Given the description of an element on the screen output the (x, y) to click on. 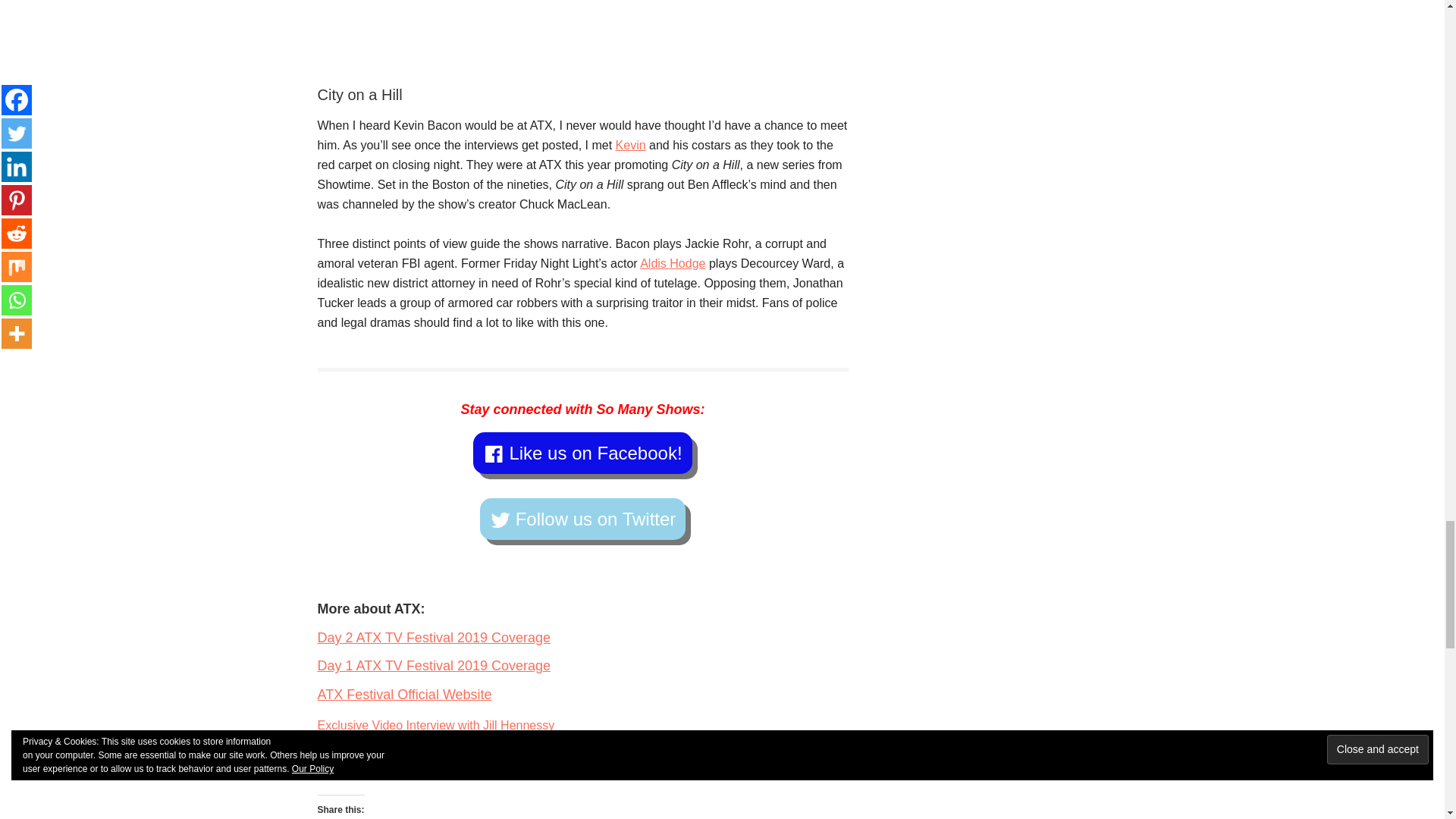
Aldis Hodge (672, 263)
Day 1 ATX TV Festival 2019 Coverage (433, 665)
Day 2 ATX TV Festival 2019 Coverage (433, 637)
Kevin (630, 144)
Like us on Facebook! (582, 453)
Follow us on Twitter (582, 518)
ATX Festival Official Website (404, 694)
Exclusive Video Interview with Jill Hennessy (435, 725)
